Given the description of an element on the screen output the (x, y) to click on. 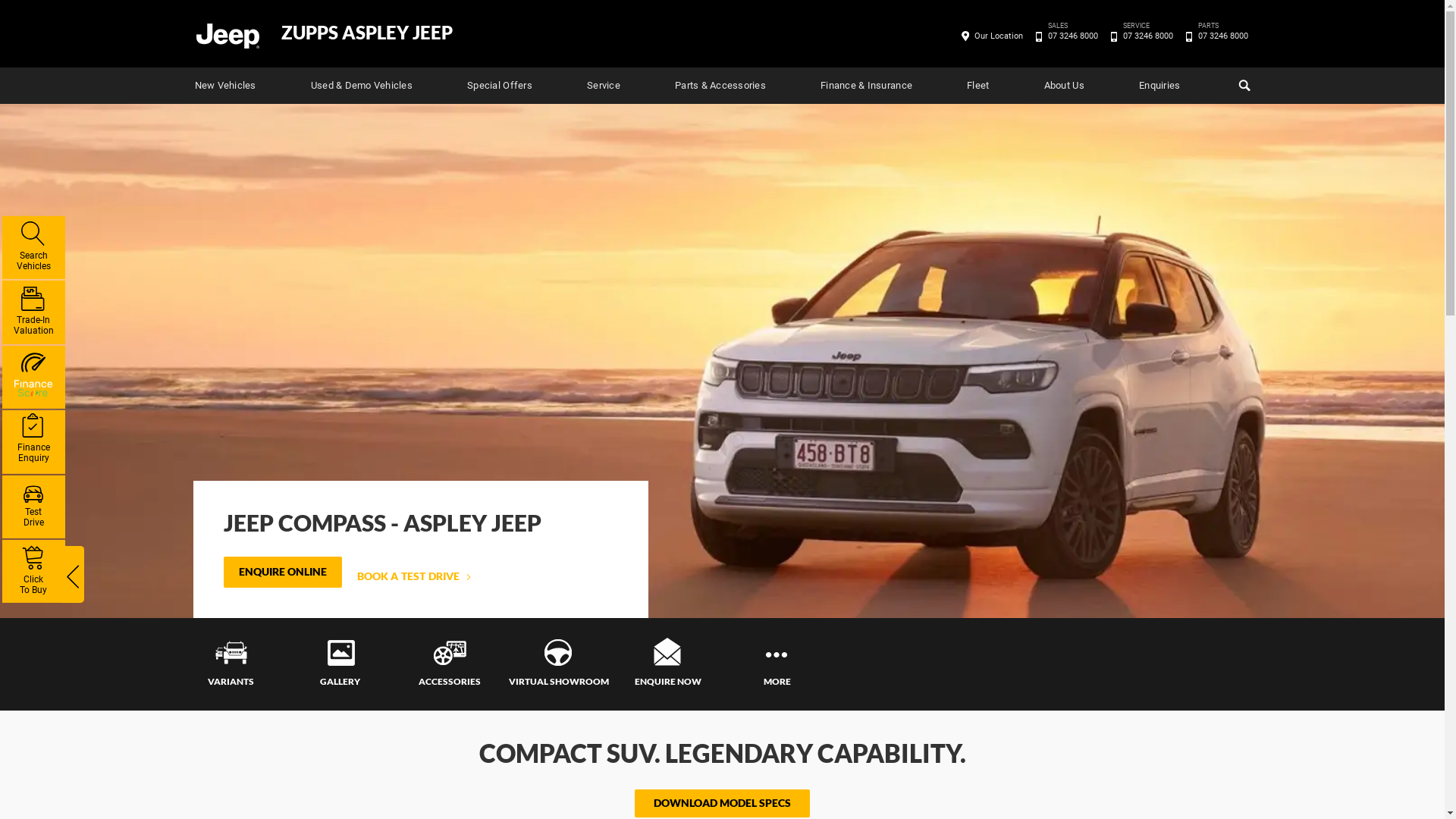
Finance
Enquiry Element type: text (33, 441)
SALES
07 3246 8000 Element type: text (1071, 35)
Fleet Element type: text (977, 85)
Trade-In
Valuation Element type: text (33, 311)
VARIANTS Element type: text (230, 664)
Search
Vehicles Element type: text (33, 247)
ZUPPS ASPLEY JEEP Element type: text (366, 32)
ENQUIRE ONLINE Element type: text (281, 571)
Our Location Element type: text (998, 35)
ACCESSORIES Element type: text (448, 664)
MORE Element type: text (776, 664)
Click
To Buy Element type: text (33, 570)
Search Element type: text (1241, 85)
Finance & Insurance Element type: text (866, 85)
Test
Drive Element type: text (33, 505)
VIRTUAL SHOWROOM Element type: text (557, 664)
About Us Element type: text (1064, 85)
SERVICE
07 3246 8000 Element type: text (1147, 35)
Parts & Accessories Element type: text (719, 85)
ENQUIRE NOW Element type: text (666, 664)
Enquiries Element type: text (1159, 85)
Special Offers Element type: text (499, 85)
DOWNLOAD MODEL SPECS Element type: text (721, 803)
New Vehicles Element type: text (224, 85)
GALLERY Element type: text (339, 664)
PARTS
07 3246 8000 Element type: text (1222, 35)
Zupps Aspley Jeep Element type: hover (226, 34)
BOOK A TEST DRIVE Element type: text (413, 575)
Service Element type: text (603, 85)
Used & Demo Vehicles Element type: text (361, 85)
